Given the description of an element on the screen output the (x, y) to click on. 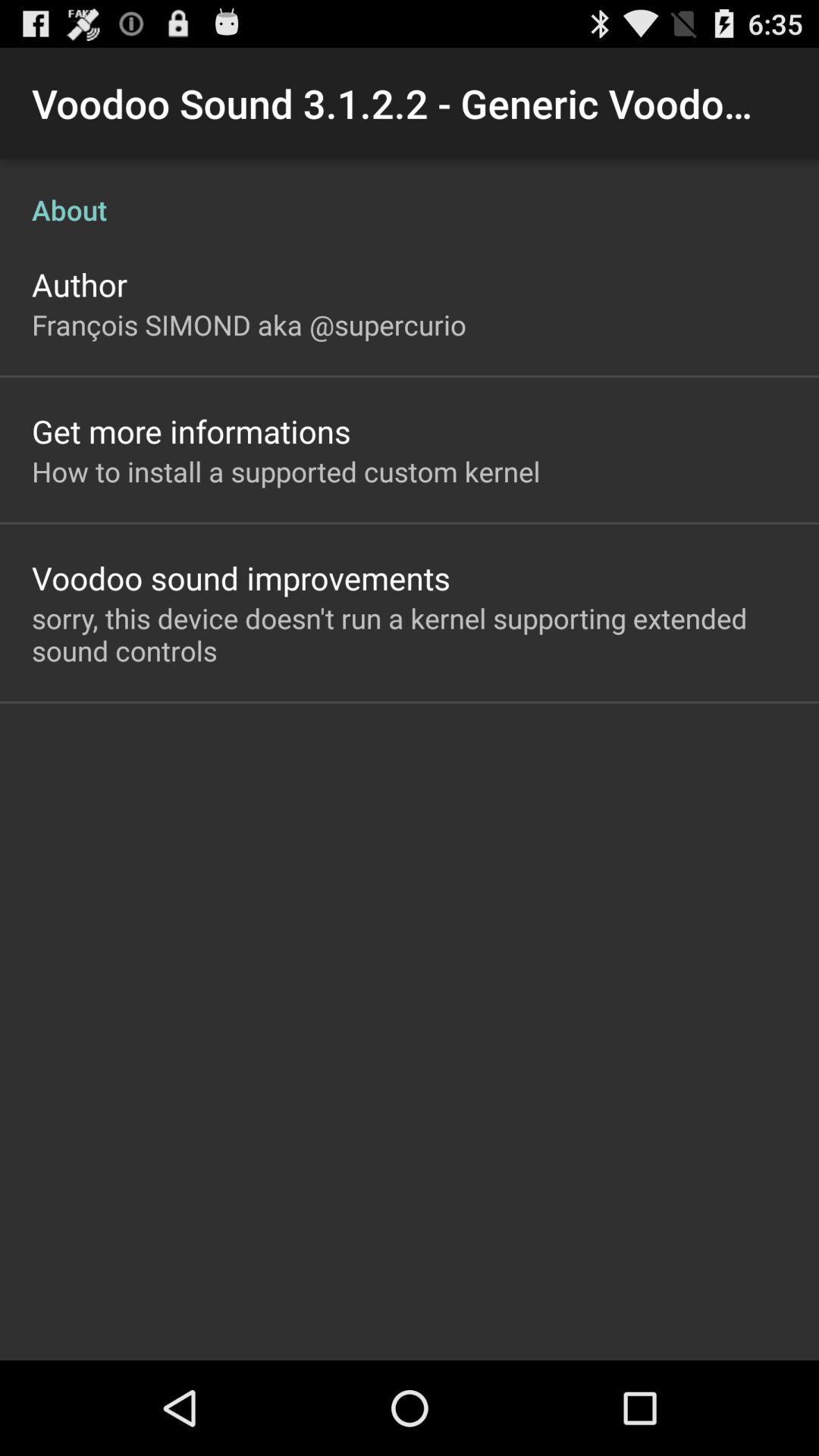
launch the icon below the voodoo sound 3 (409, 193)
